Given the description of an element on the screen output the (x, y) to click on. 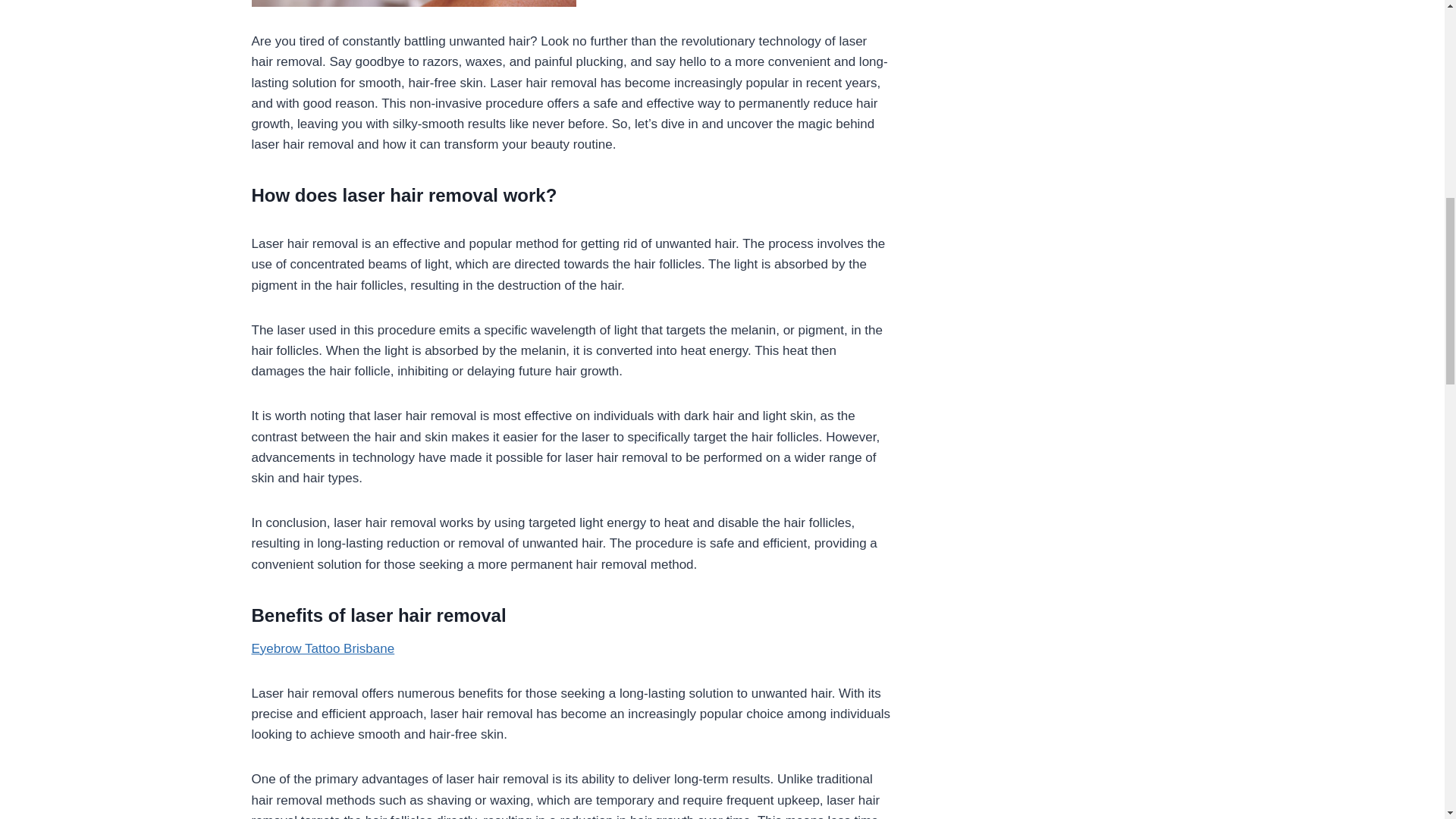
Eyebrow Tattoo Brisbane (322, 648)
